Given the description of an element on the screen output the (x, y) to click on. 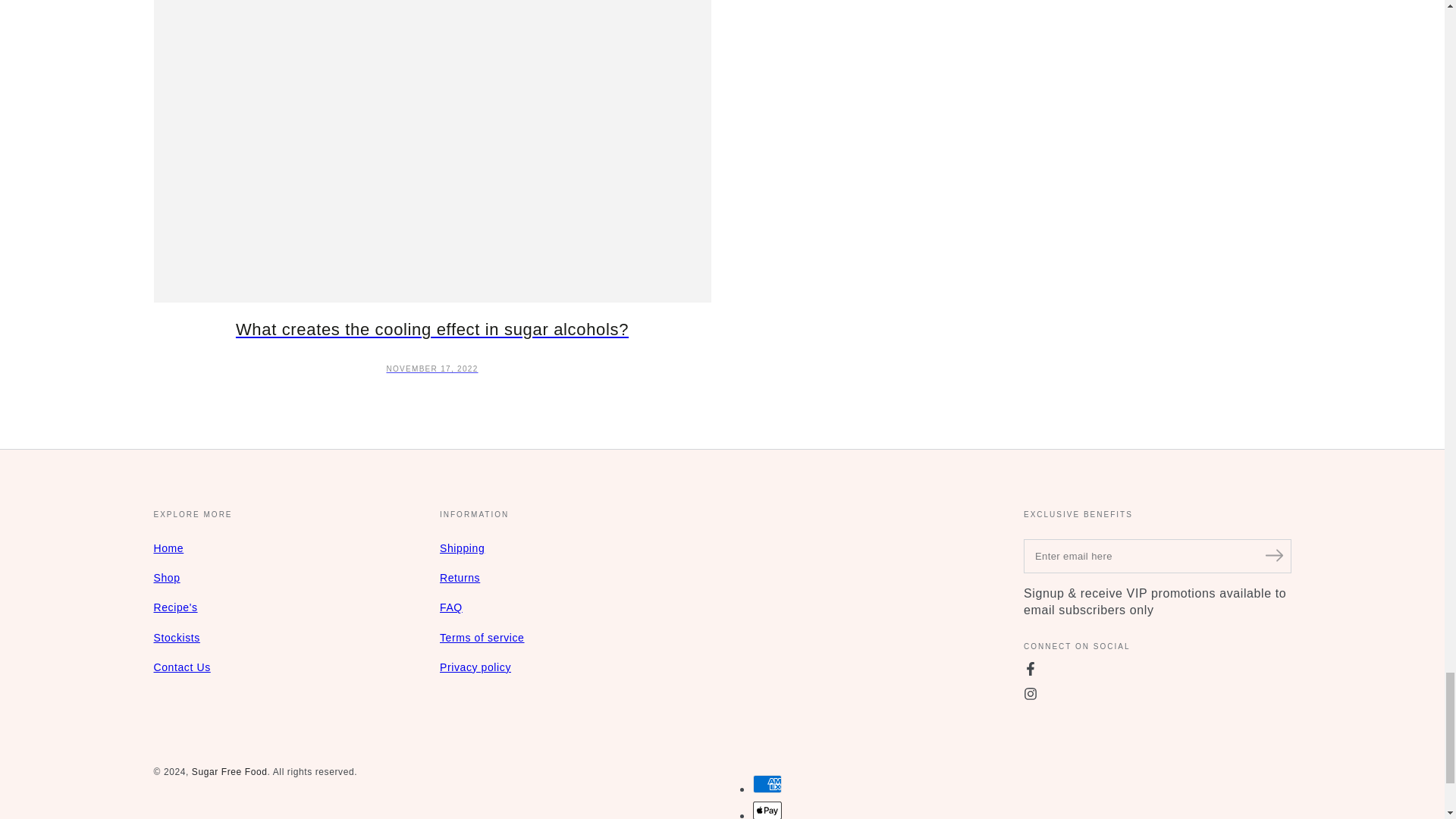
Apple Pay (766, 810)
American Express (766, 783)
